Given the description of an element on the screen output the (x, y) to click on. 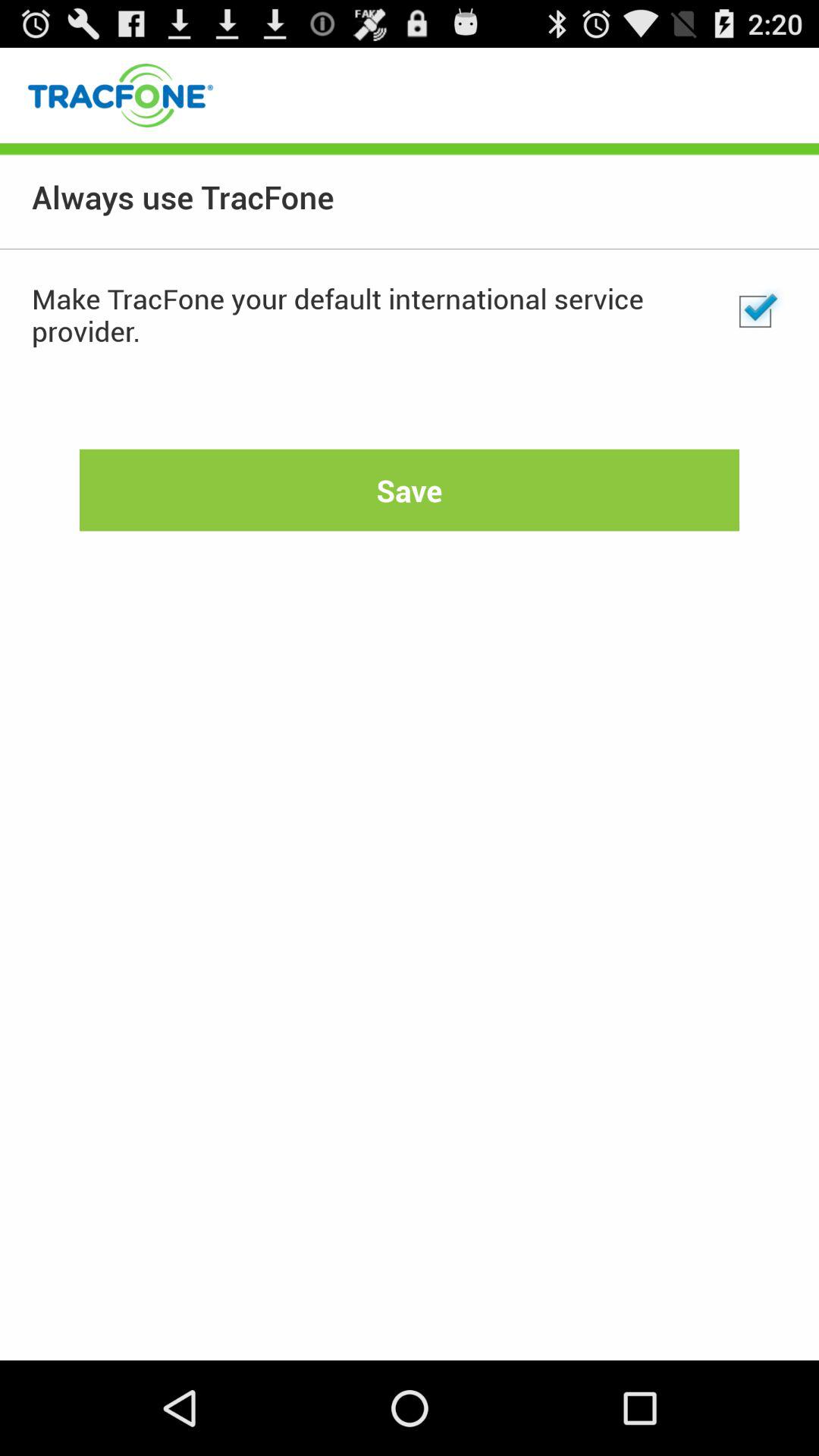
press the icon to the right of the make tracfone your (755, 311)
